Given the description of an element on the screen output the (x, y) to click on. 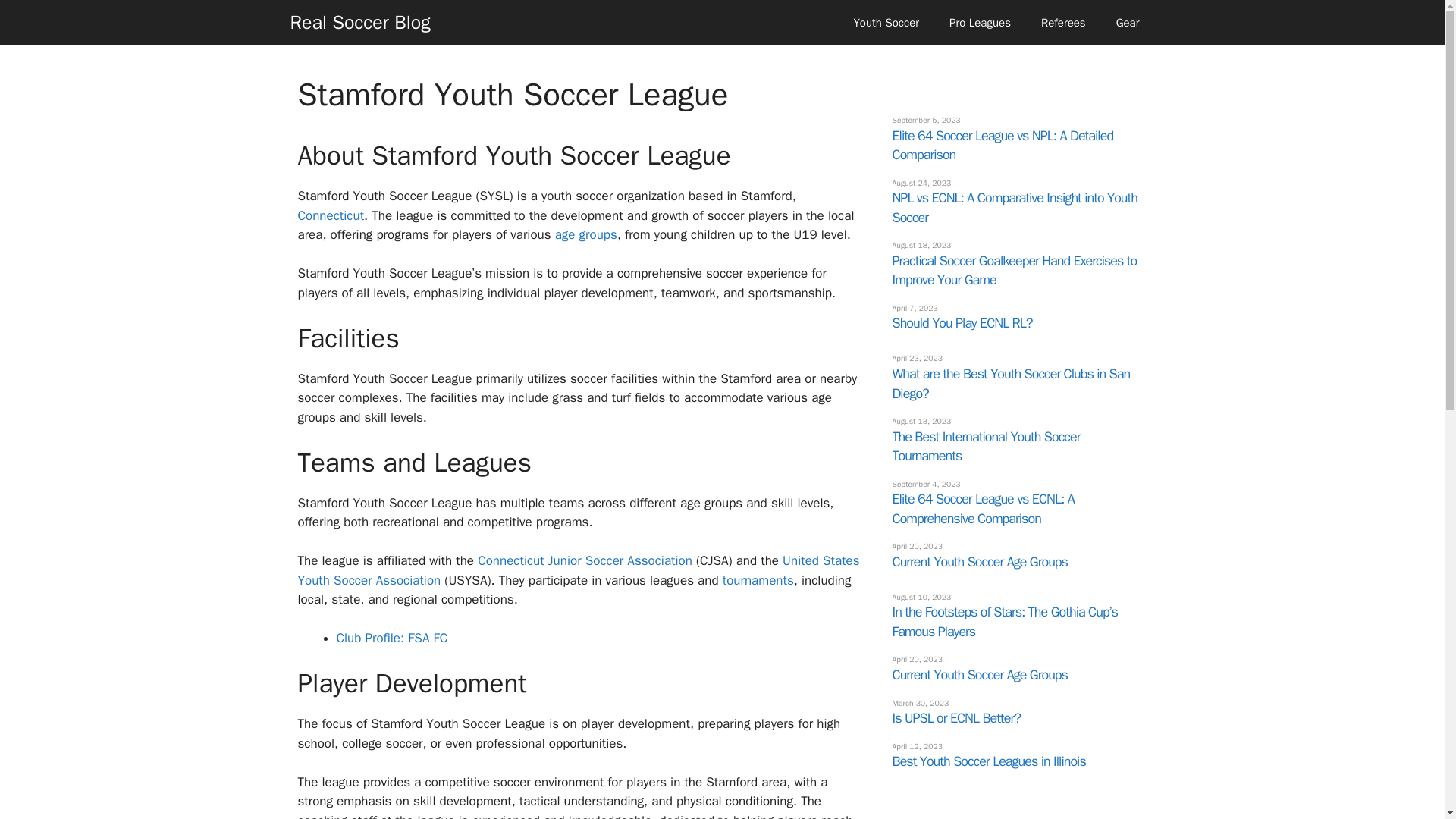
Referees (1063, 22)
Connecticut (330, 215)
Connecticut Junior Soccer Association (585, 560)
Youth Soccer (886, 22)
Elite 64 Soccer League vs ECNL: A Comprehensive Comparison (982, 508)
Club Profile: FSA FC (392, 637)
Current Youth Soccer Age Groups (979, 674)
age groups (585, 234)
tournaments (757, 580)
NPL vs ECNL: A Comparative Insight into Youth Soccer (1014, 207)
What are the Best Youth Soccer Clubs in San Diego? (1010, 383)
Real Soccer Blog (359, 22)
Pro Leagues (980, 22)
Current Youth Soccer Age Groups (979, 561)
Best Youth Soccer Leagues in Illinois (987, 760)
